Given the description of an element on the screen output the (x, y) to click on. 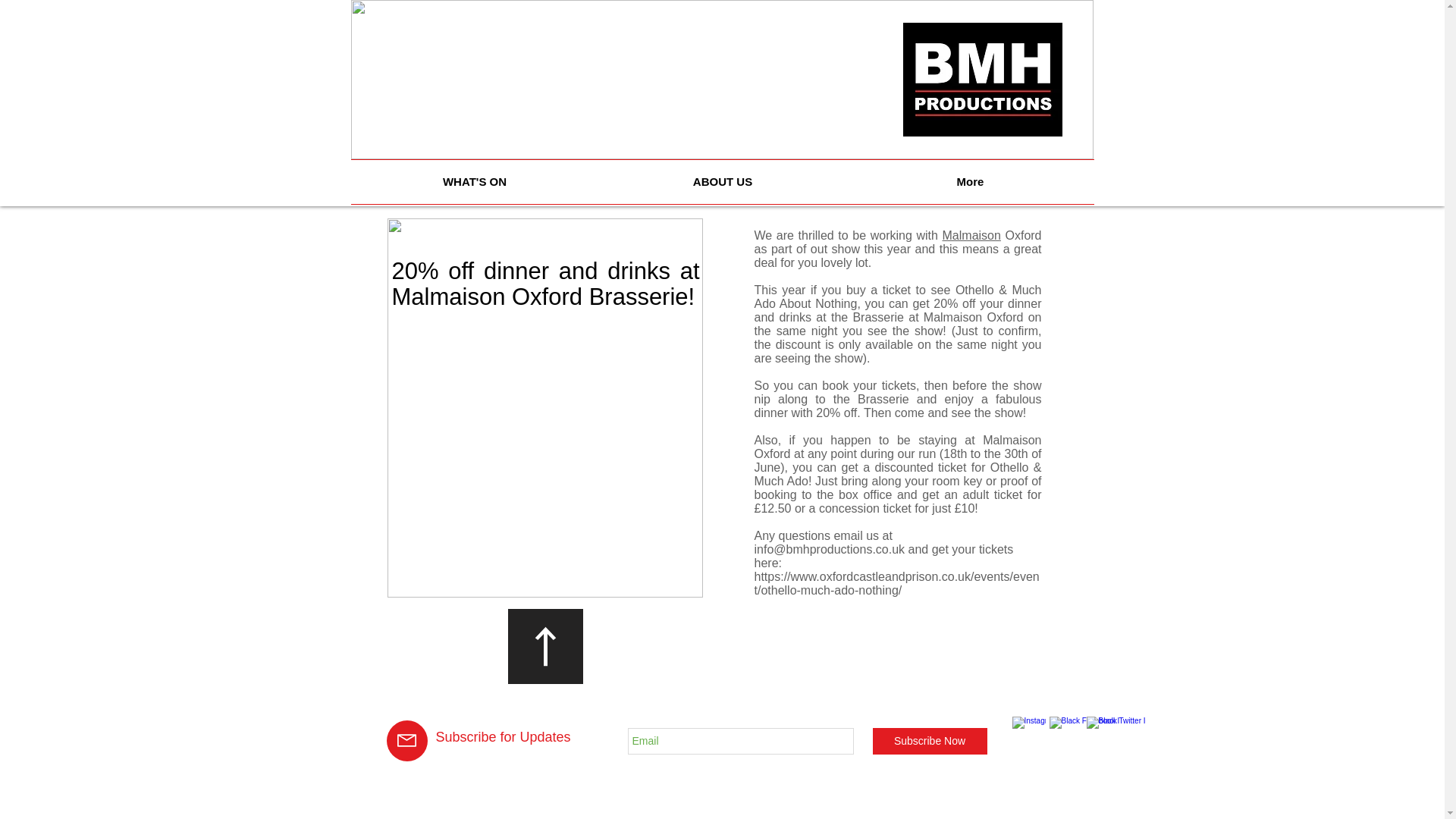
Subscribe Now (929, 741)
ABOUT US (722, 181)
Malmaison (971, 235)
Wix.com (591, 748)
WHAT'S ON (474, 181)
